Given the description of an element on the screen output the (x, y) to click on. 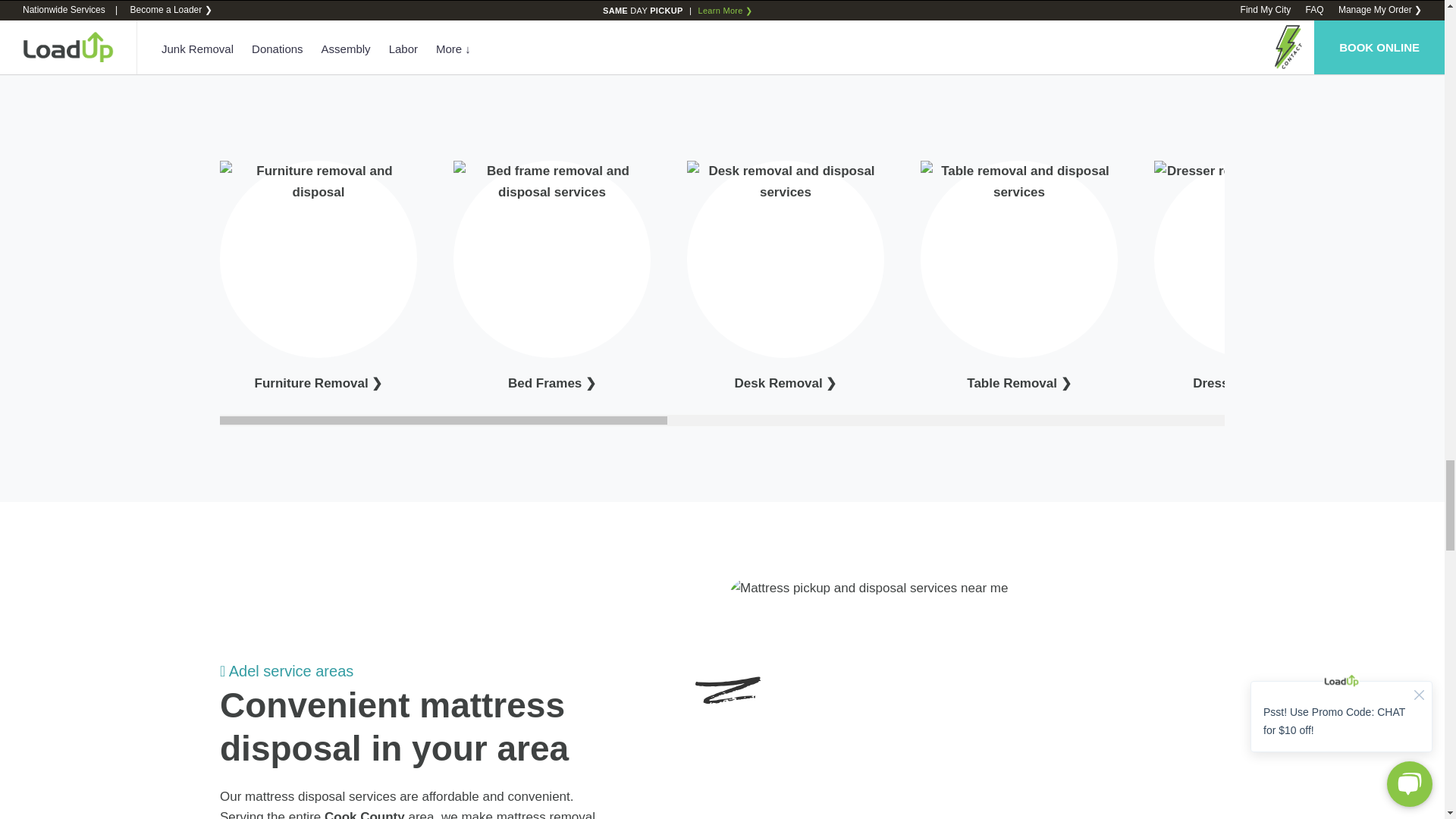
Schedule junk removal online (256, 16)
Learn more about our Adel furniture removal services (318, 382)
